Given the description of an element on the screen output the (x, y) to click on. 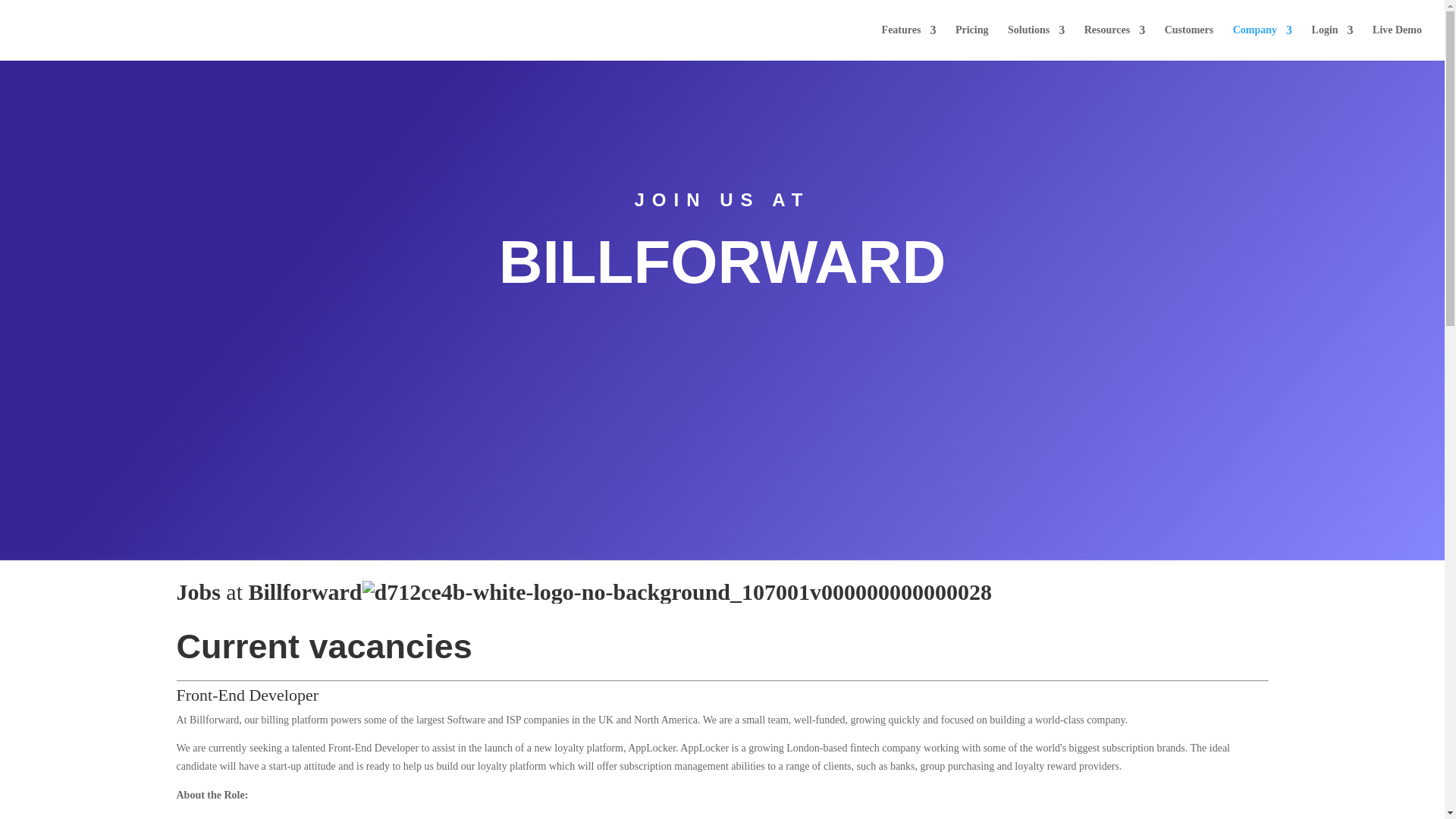
Live Demo (1397, 42)
Resources (1114, 42)
Login (1332, 42)
Company (1262, 42)
Customers (1189, 42)
Features (909, 42)
Solutions (1035, 42)
Pricing (971, 42)
